Given the description of an element on the screen output the (x, y) to click on. 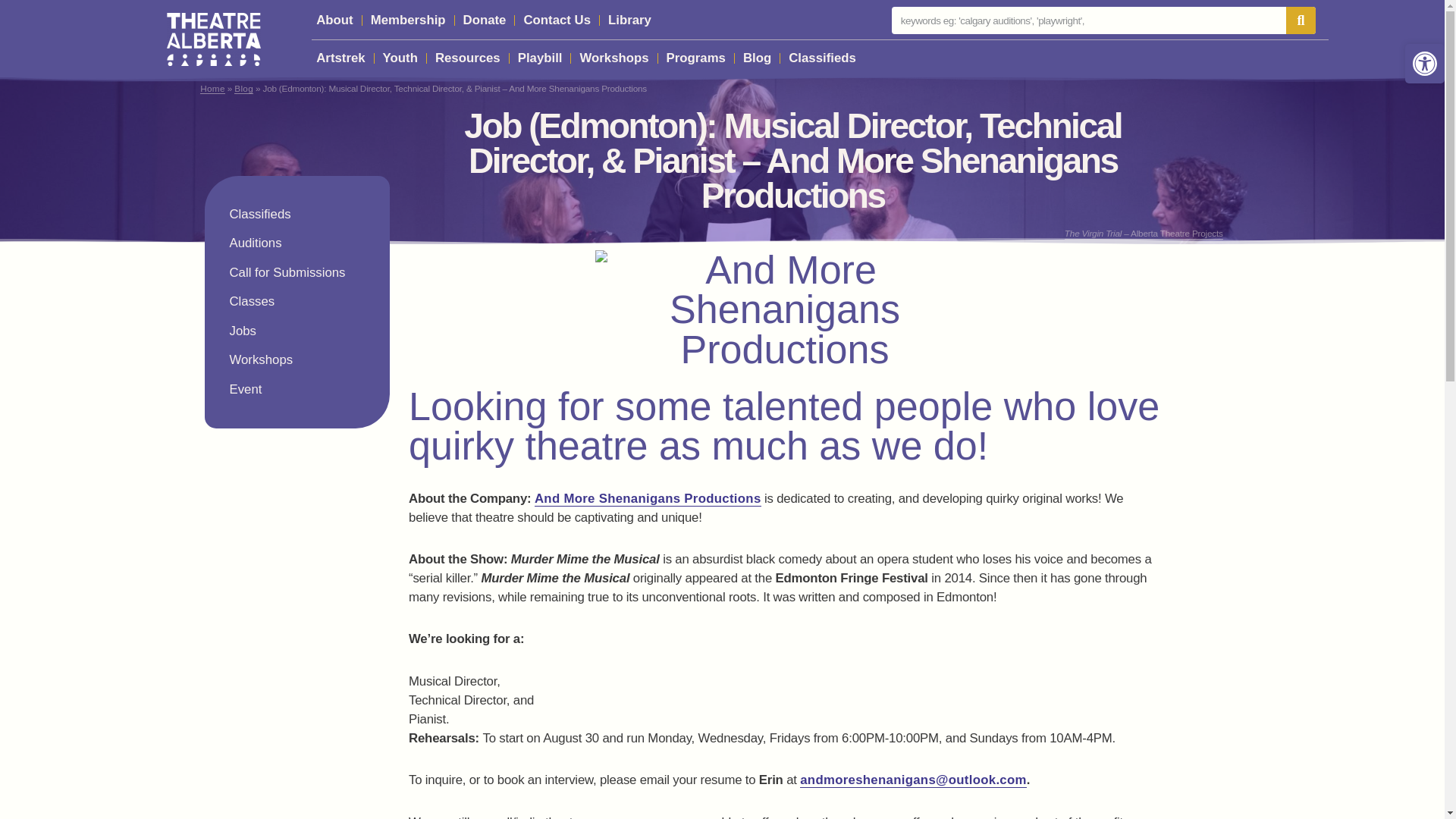
Workshops (613, 58)
Skip to content (11, 31)
Artstrek (340, 58)
Library (630, 20)
Programs (696, 58)
Classifieds (822, 58)
Membership (407, 20)
Donate (484, 20)
Accessibility Tools (1424, 63)
Resources (467, 58)
About (333, 20)
Blog (757, 58)
Playbill (540, 58)
Youth (400, 58)
Contact Us (556, 20)
